Given the description of an element on the screen output the (x, y) to click on. 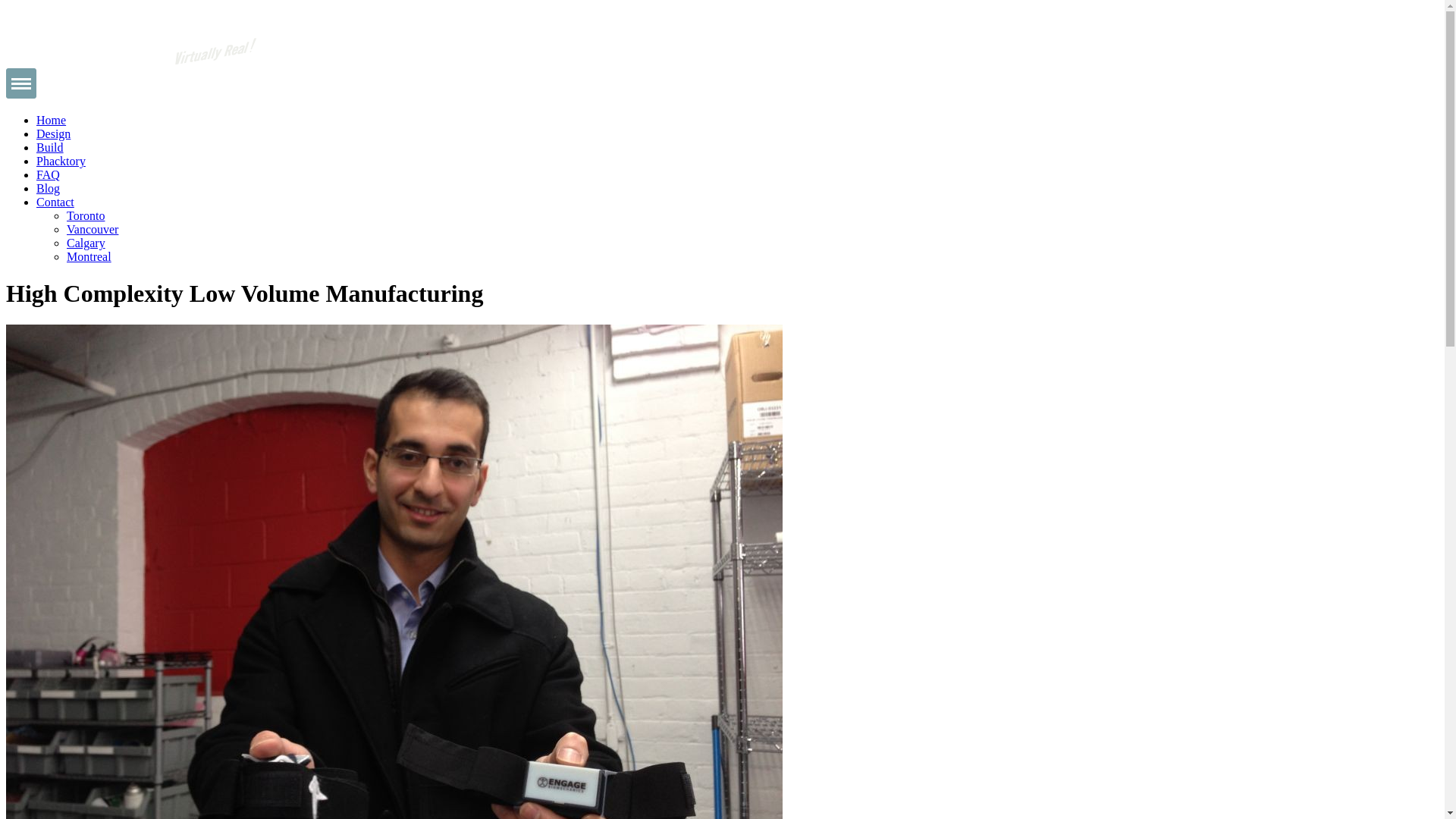
Design Element type: text (53, 133)
Vancouver Element type: text (92, 228)
Build Element type: text (49, 147)
Calgary Element type: text (85, 242)
Phacktory Element type: text (60, 160)
Toronto Element type: text (85, 215)
FAQ Element type: text (47, 174)
Montreal Element type: text (88, 256)
Blog Element type: text (47, 188)
Contact Element type: text (55, 201)
Home Element type: text (50, 119)
